Given the description of an element on the screen output the (x, y) to click on. 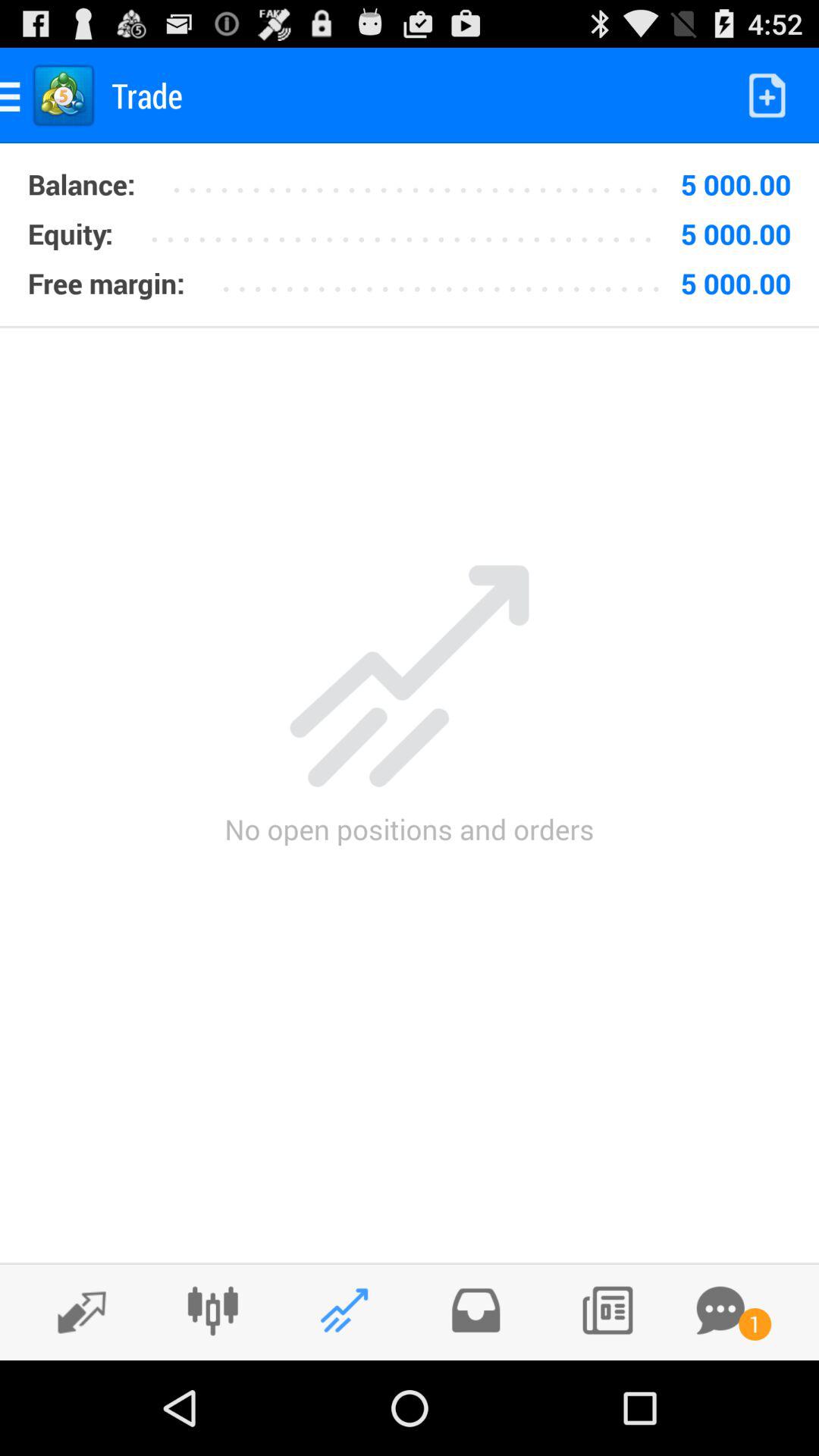
contacts (606, 1310)
